Given the description of an element on the screen output the (x, y) to click on. 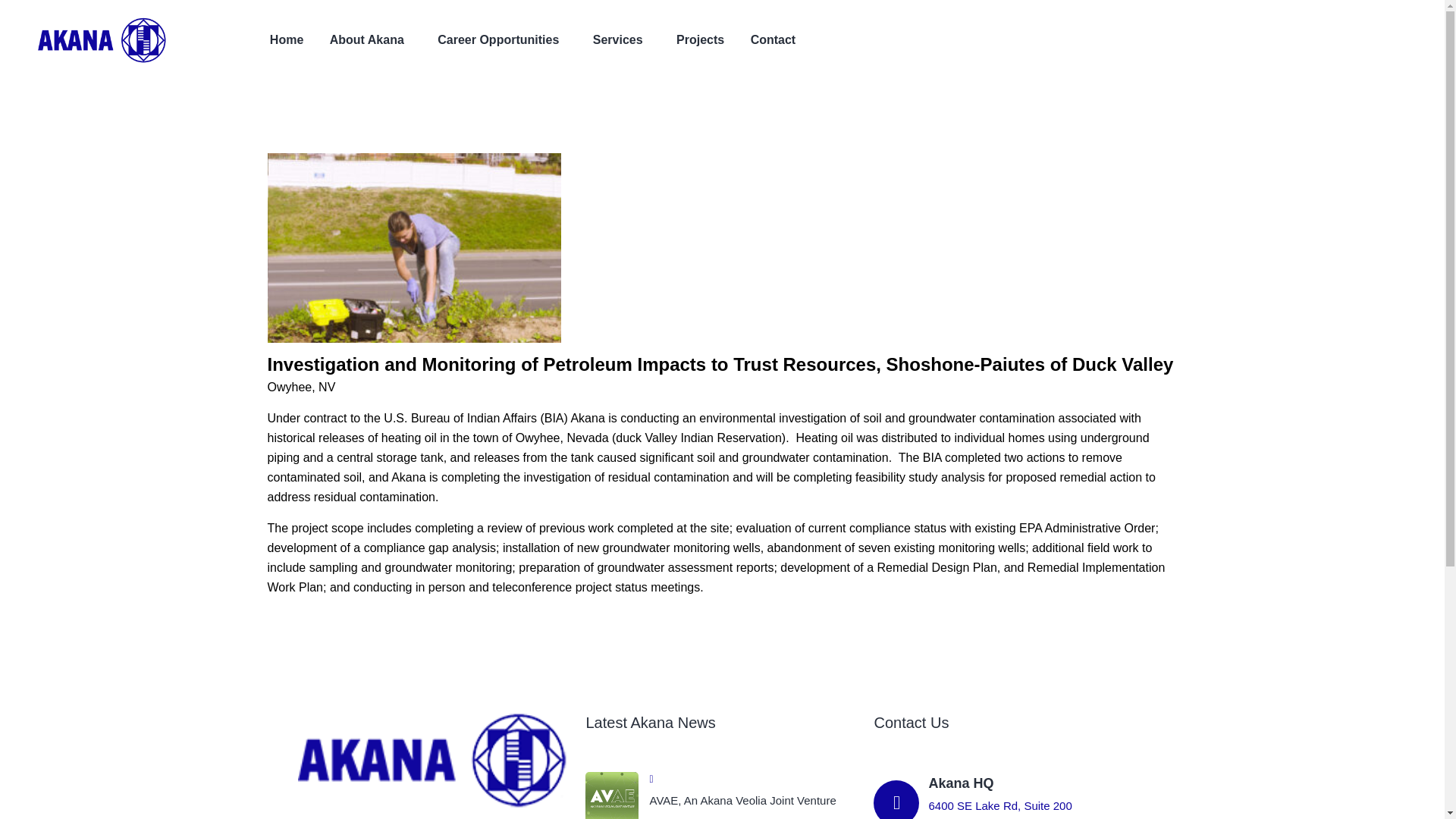
Home (285, 39)
About Akana (367, 39)
Services (617, 39)
Contact (773, 39)
Projects (700, 39)
Career Opportunities (498, 39)
AVAE, An Akana Veolia Joint Venture (754, 799)
